Given the description of an element on the screen output the (x, y) to click on. 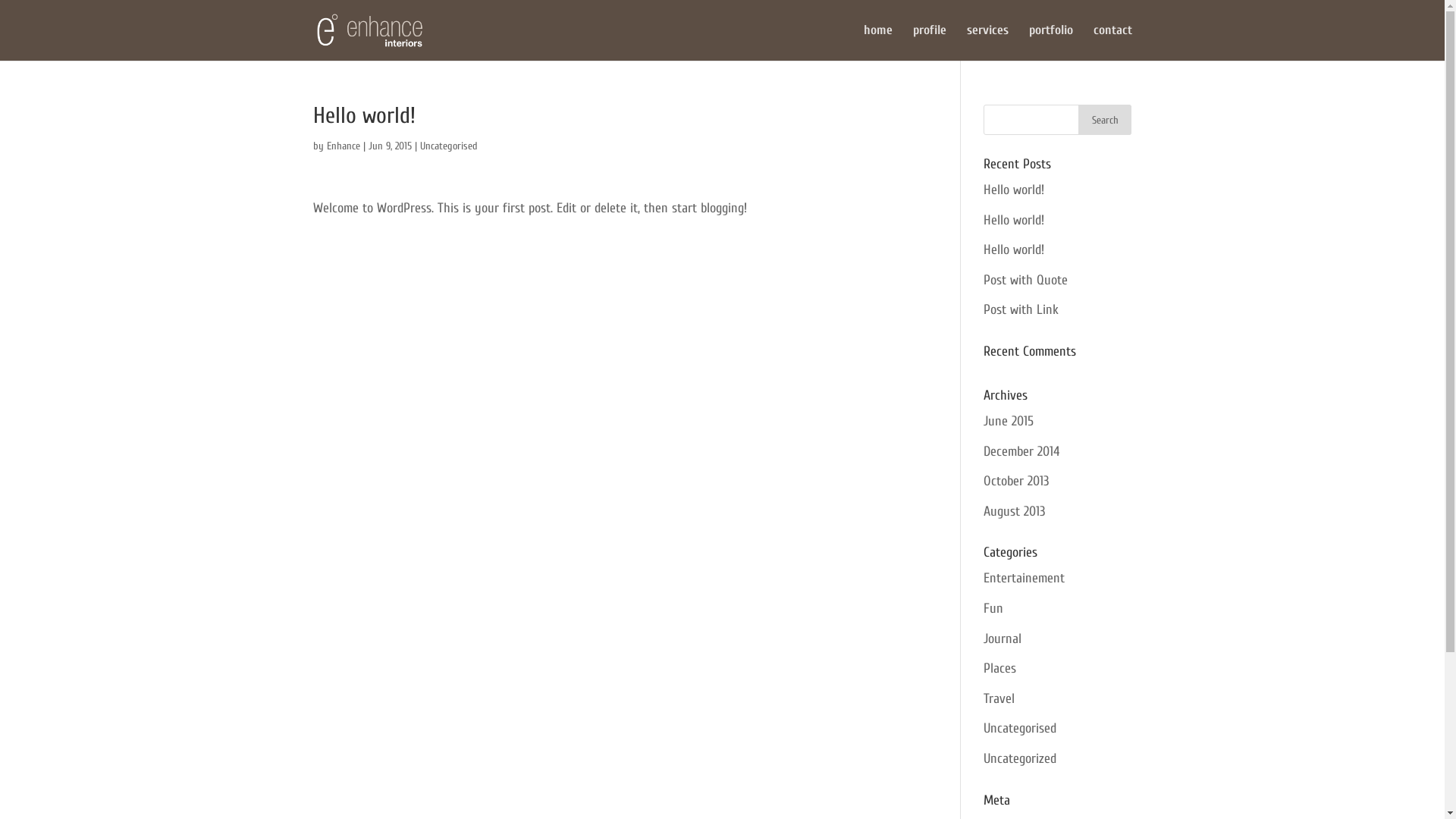
Hello world! Element type: text (1013, 189)
August 2013 Element type: text (1013, 511)
Hello world! Element type: text (1013, 249)
Uncategorised Element type: text (1019, 728)
portfolio Element type: text (1050, 42)
October 2013 Element type: text (1015, 481)
Hello world! Element type: text (1013, 220)
December 2014 Element type: text (1021, 451)
Uncategorised Element type: text (448, 145)
Search Element type: text (1104, 119)
Travel Element type: text (998, 698)
contact Element type: text (1112, 42)
Post with Link Element type: text (1020, 309)
Journal Element type: text (1002, 638)
June 2015 Element type: text (1008, 421)
Enhance Element type: text (342, 145)
Fun Element type: text (993, 608)
Uncategorized Element type: text (1019, 758)
Post with Quote Element type: text (1025, 280)
profile Element type: text (929, 42)
Places Element type: text (999, 668)
Entertainement Element type: text (1023, 578)
services Element type: text (986, 42)
home Element type: text (876, 42)
